Given the description of an element on the screen output the (x, y) to click on. 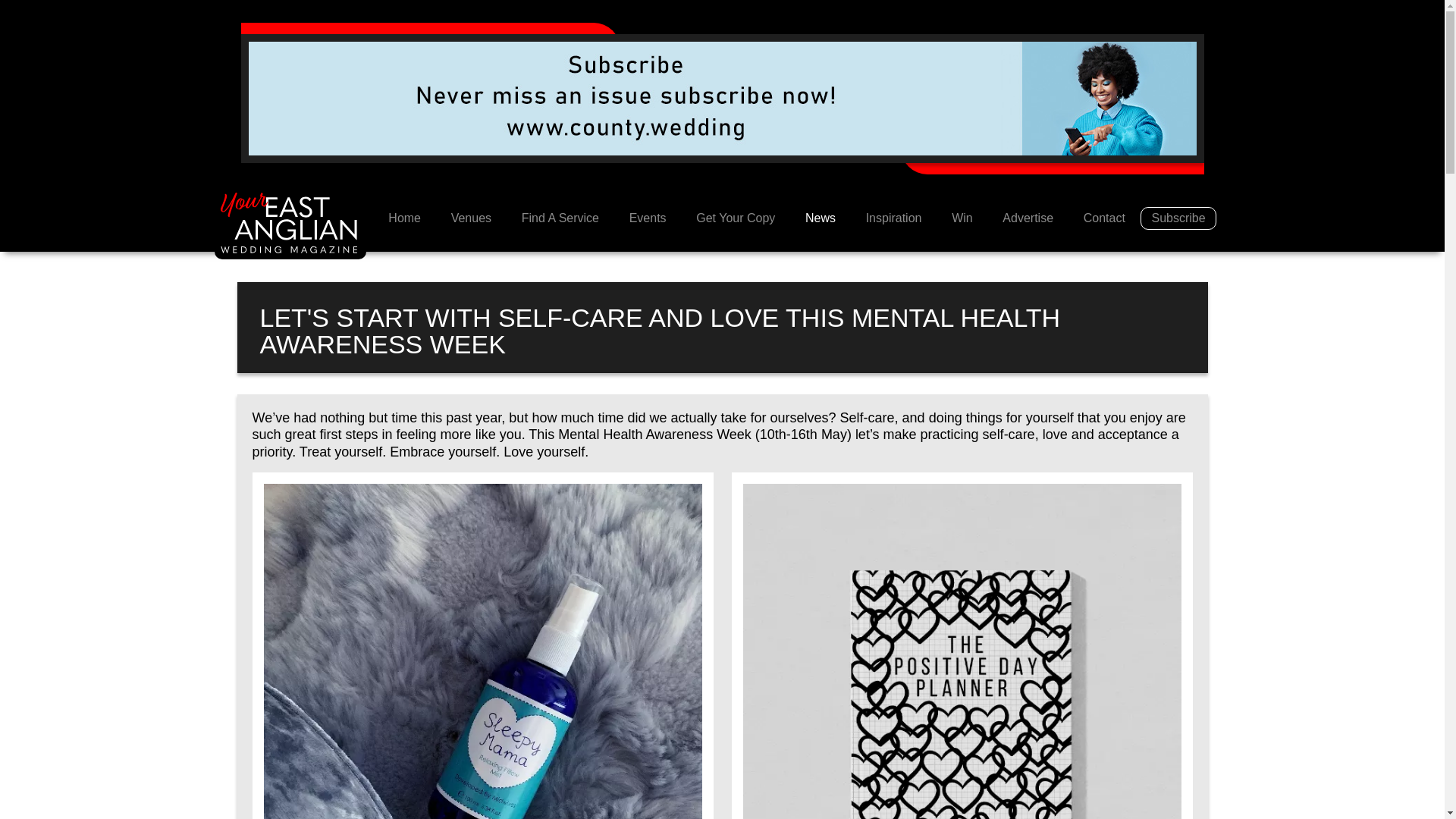
Subscribe to County Wedding Magazines for free (722, 97)
Find your dream wedding venue in East Anglia (470, 218)
Upcoming wedding fayres, shows and events (647, 218)
Inspiration (893, 218)
Advertise (1028, 218)
Advertise with Your East Anglian Wedding magazine (1028, 218)
Contact (1104, 218)
Your East Anglian Wedding (403, 218)
Get Your Copy (735, 218)
Contact the team at Your East Anglian Wedding magazine (1104, 218)
News (820, 218)
Your East Anglian Wedding (289, 224)
Find A Service (560, 218)
